Given the description of an element on the screen output the (x, y) to click on. 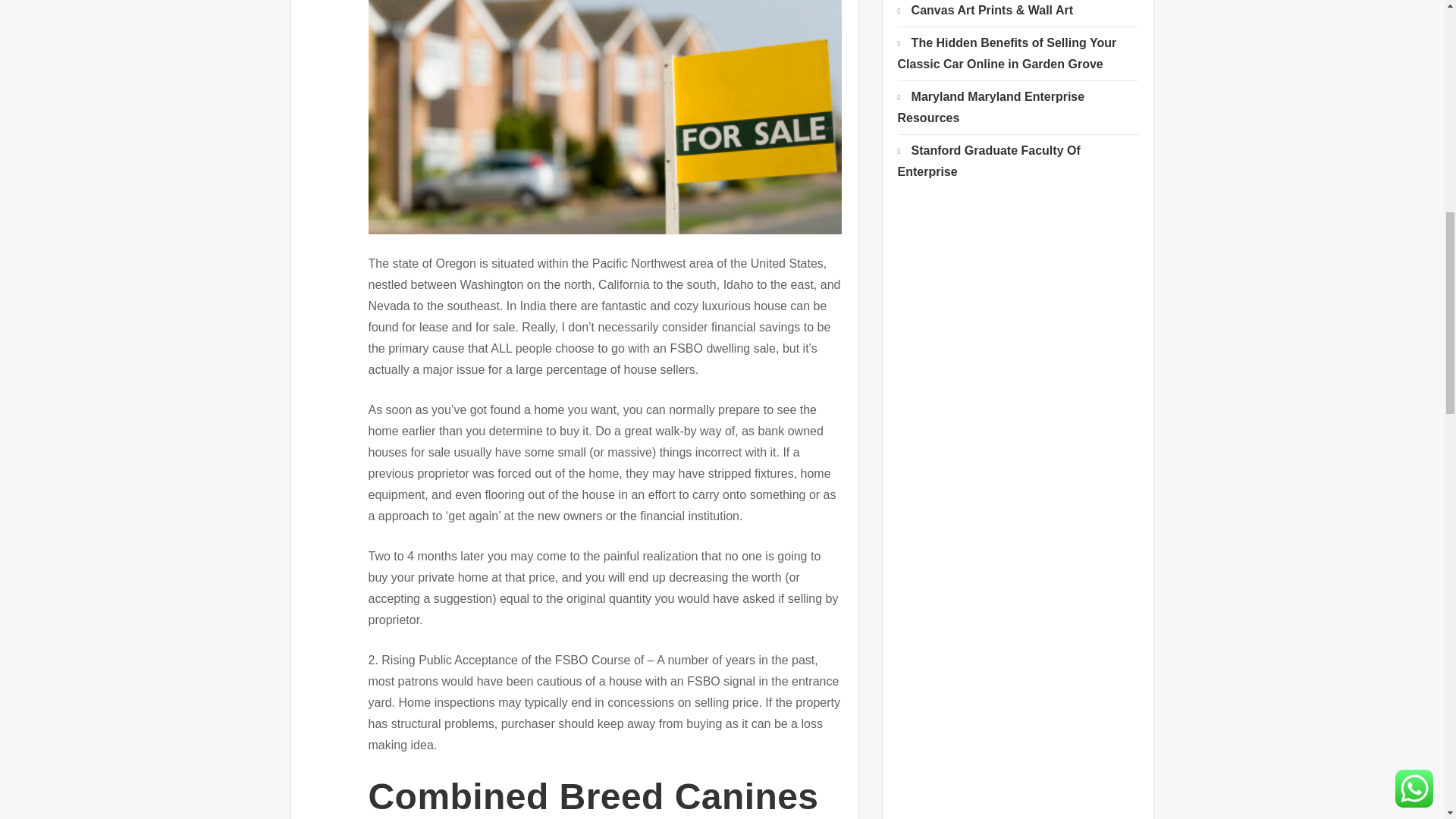
Maryland Maryland Enterprise Resources (991, 107)
Stanford Graduate Faculty Of Enterprise (989, 161)
